Given the description of an element on the screen output the (x, y) to click on. 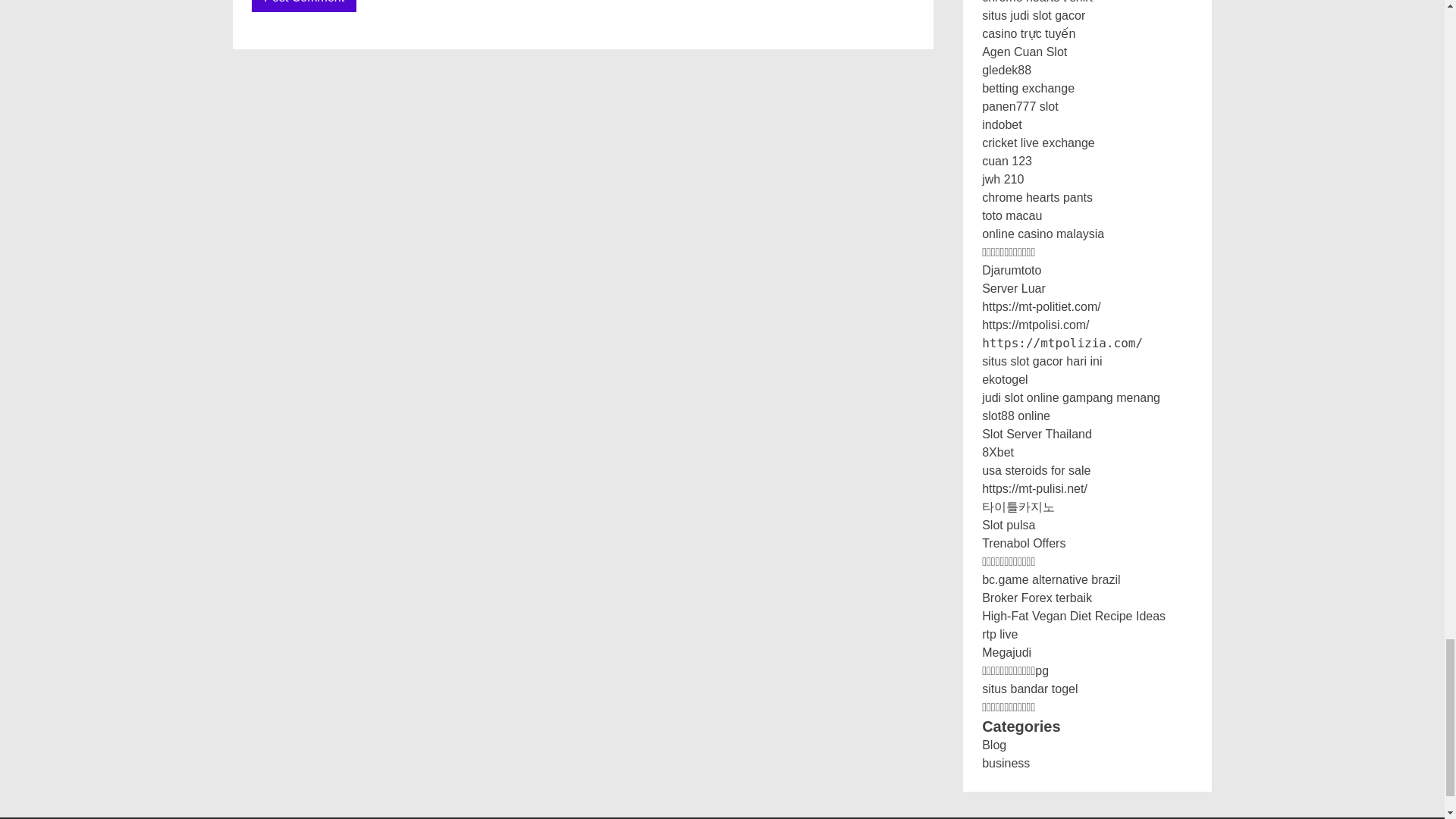
Post Comment (303, 6)
Post Comment (303, 6)
